Given the description of an element on the screen output the (x, y) to click on. 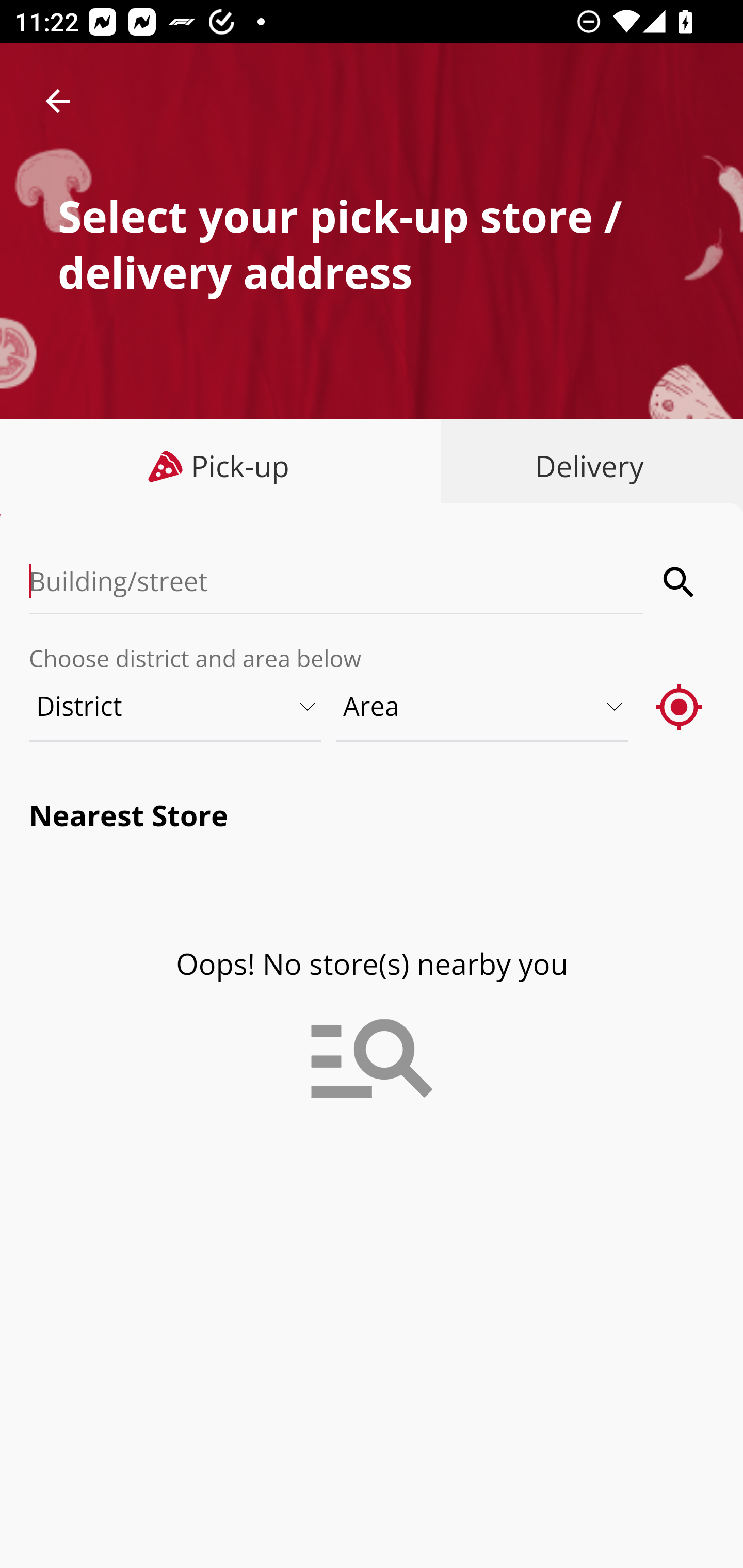
arrow_back (58, 100)
Pick-up (221, 466)
Delivery (585, 466)
search (679, 582)
gps_fixed (679, 706)
District (175, 706)
Area (482, 706)
